Given the description of an element on the screen output the (x, y) to click on. 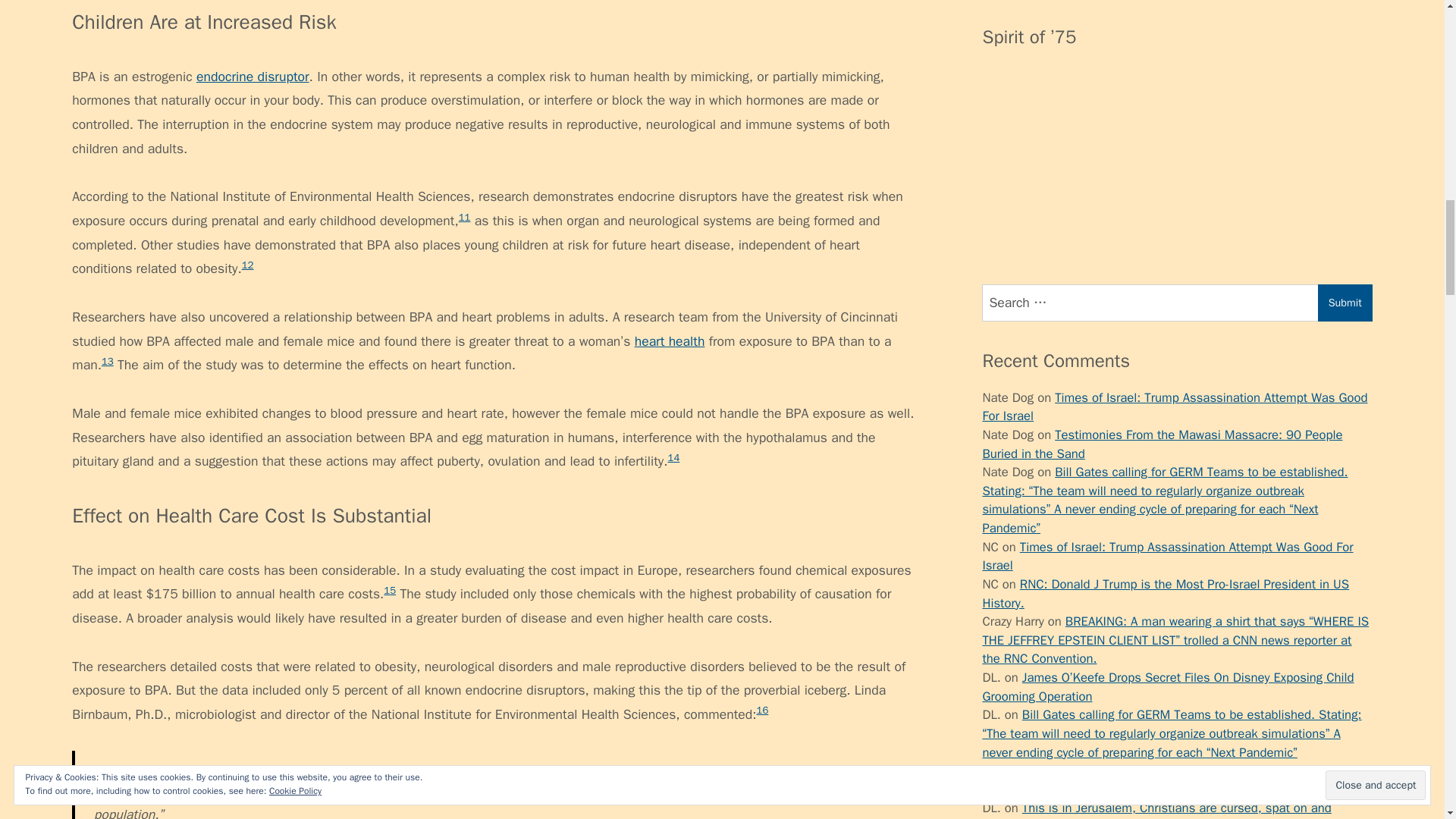
porno izle (997, 184)
porno (997, 412)
